Given the description of an element on the screen output the (x, y) to click on. 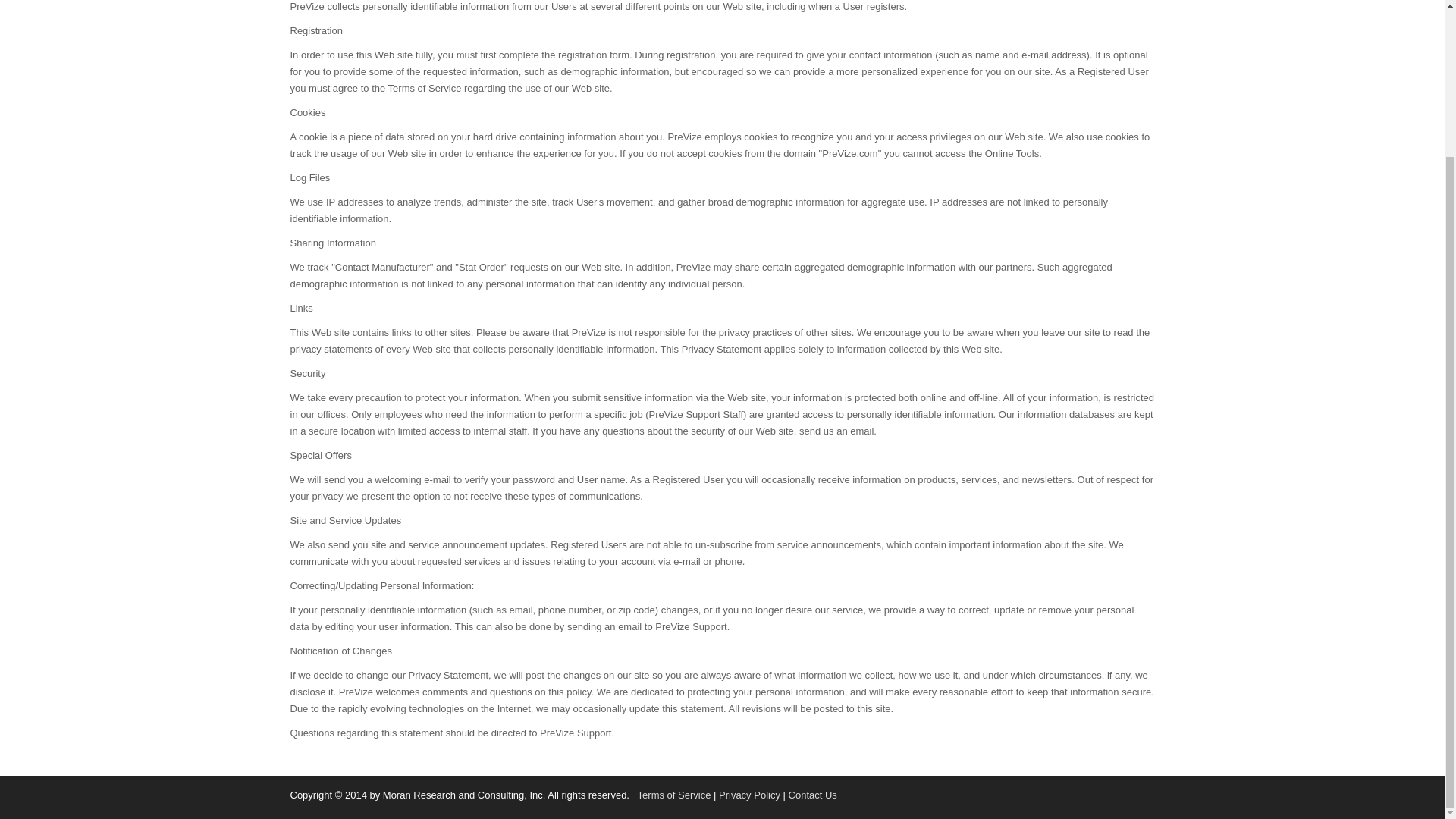
Privacy Policy (749, 794)
Terms of Service (674, 794)
Contact Us (813, 794)
